Given the description of an element on the screen output the (x, y) to click on. 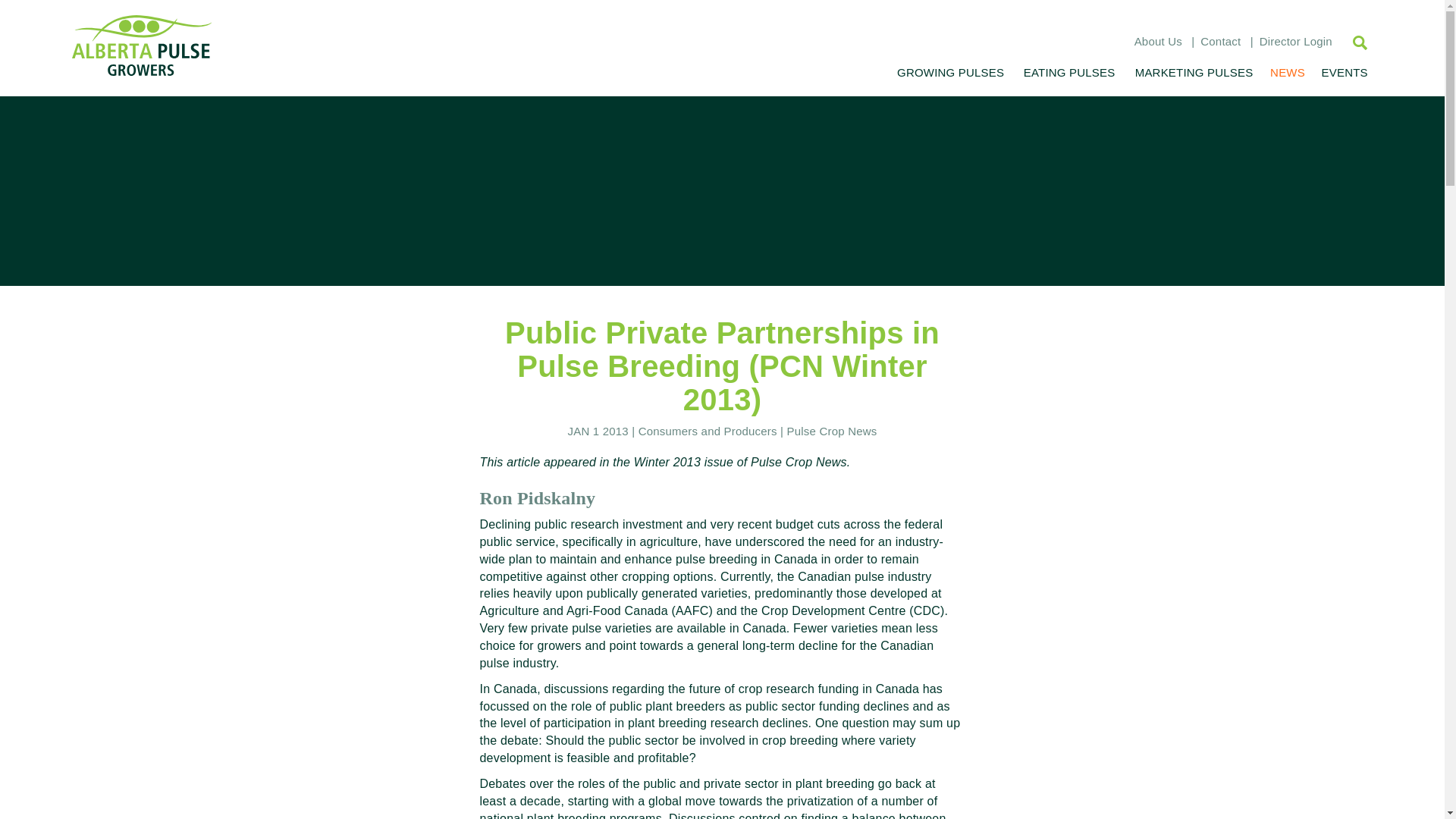
Contact (1219, 41)
NEWS (1286, 72)
EVENTS (1342, 72)
EATING PULSES (1068, 72)
SEARCH (1352, 41)
MARKETING PULSES (1193, 72)
GROWING PULSES (950, 72)
About Us (1158, 41)
Director Login (1295, 41)
